Given the description of an element on the screen output the (x, y) to click on. 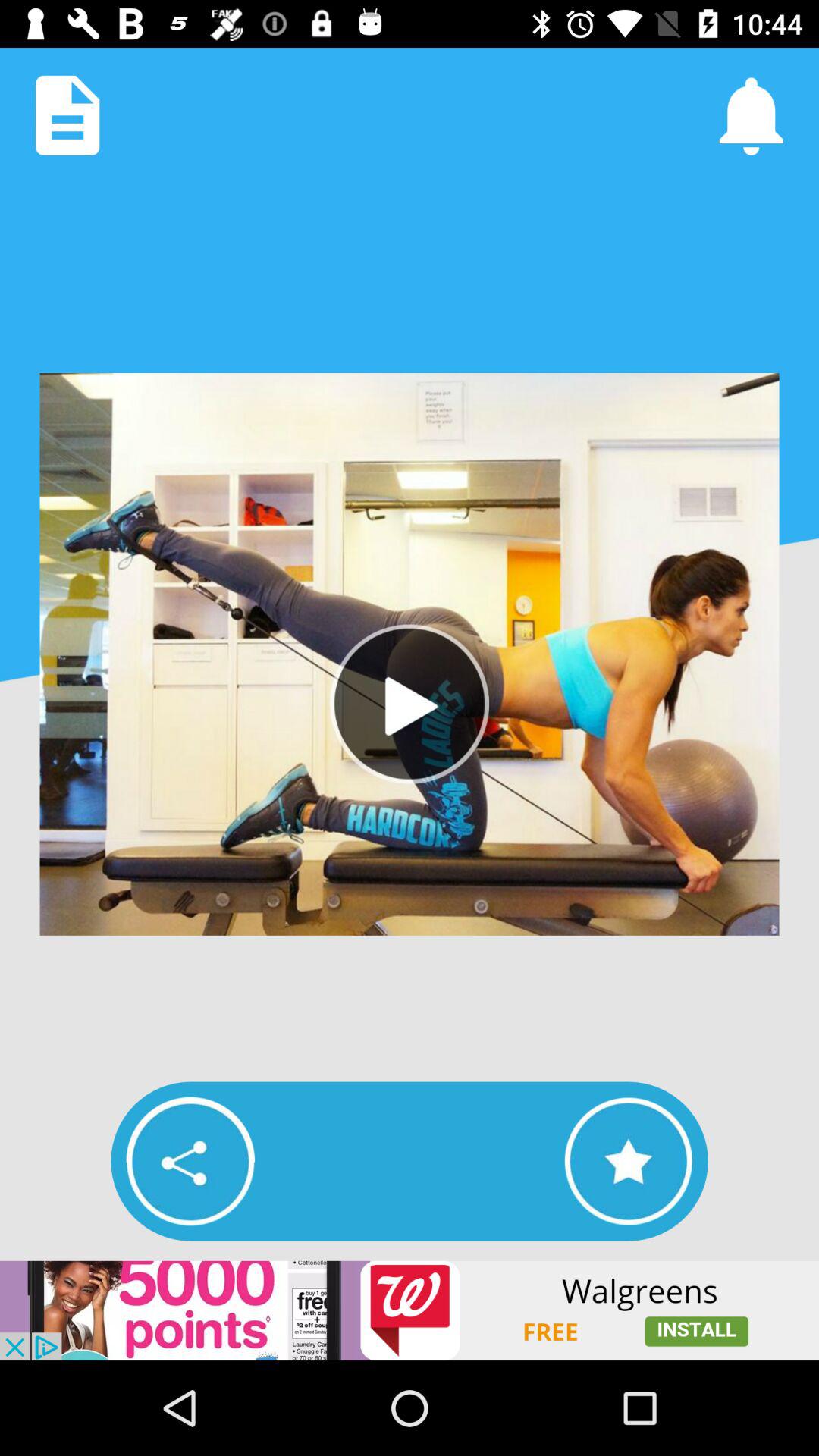
toggle notifications (751, 115)
